Given the description of an element on the screen output the (x, y) to click on. 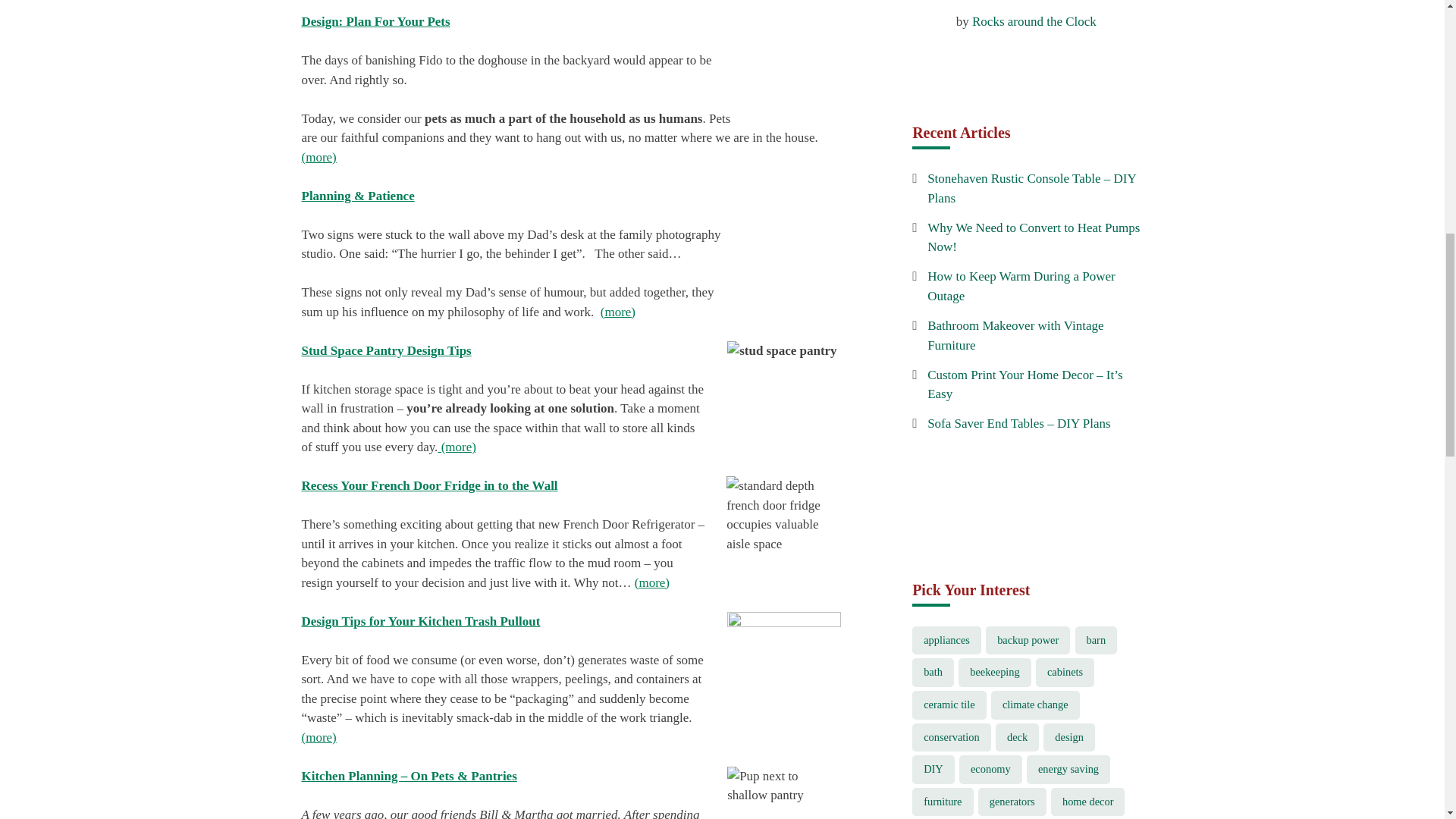
PLAN AHEad sign (783, 282)
Design Tips for Your Kitchen Trash Pullout (420, 621)
Recess Your French Door Fridge in to the Wall (429, 485)
Design: Plan For Your Pets (375, 21)
floor grate dog door (788, 64)
Stud Space Pantry Design Tips (386, 350)
